Given the description of an element on the screen output the (x, y) to click on. 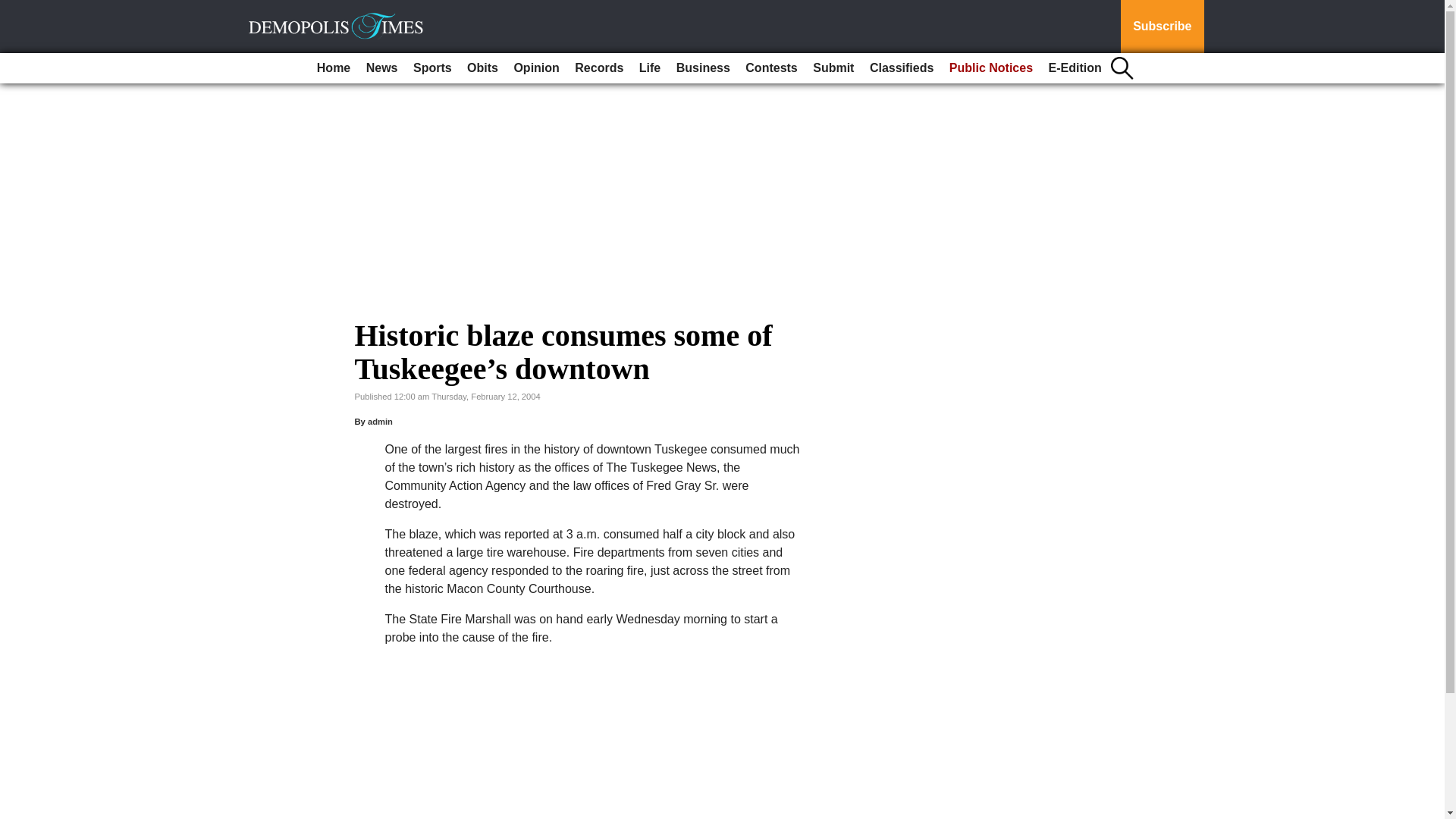
Sports (432, 68)
Records (598, 68)
Obits (482, 68)
Opinion (535, 68)
News (381, 68)
Home (333, 68)
admin (380, 420)
Subscribe (1162, 26)
Business (702, 68)
E-Edition (1075, 68)
